Given the description of an element on the screen output the (x, y) to click on. 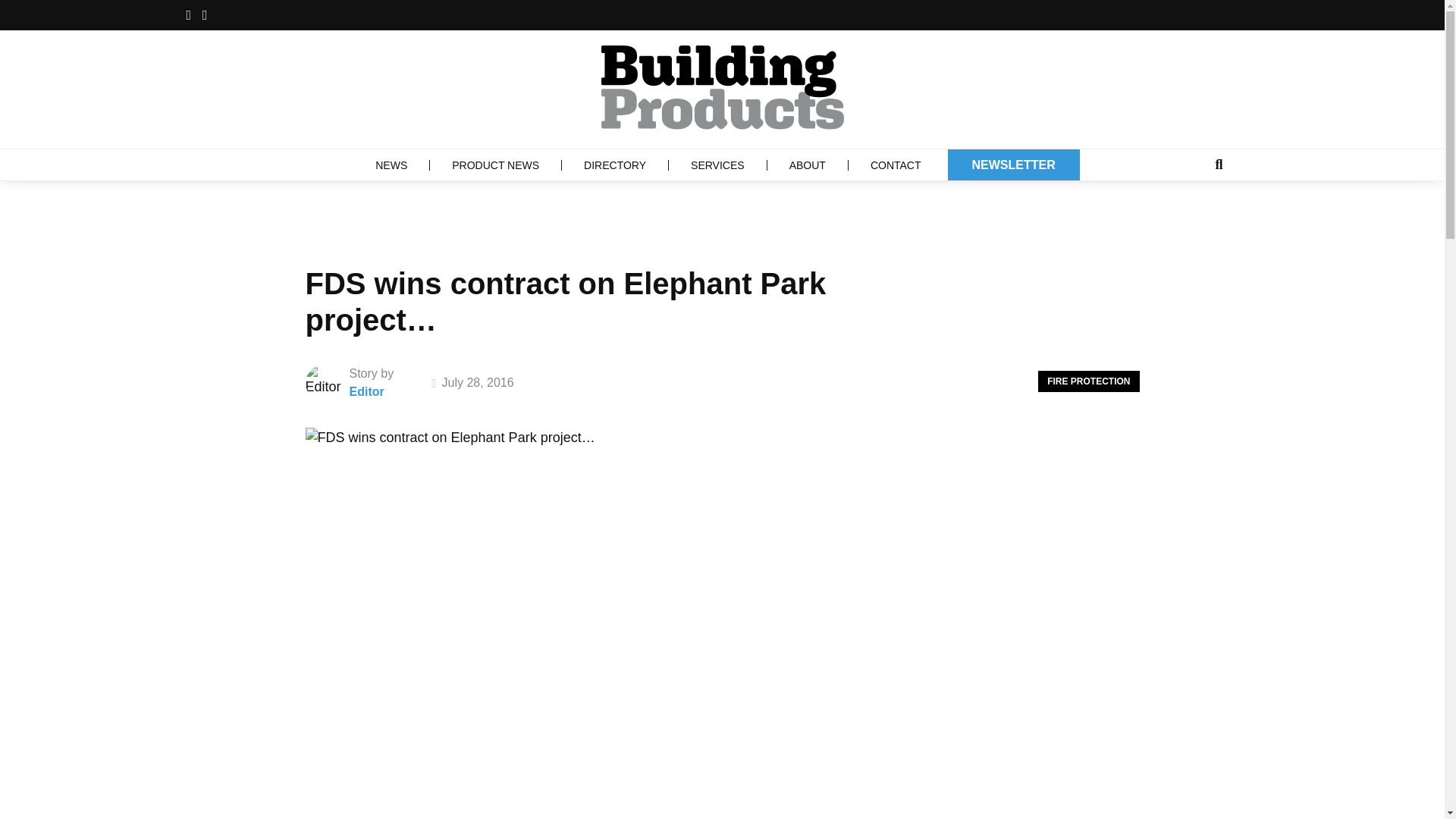
NEWS (390, 164)
PRODUCT NEWS (495, 164)
Return to the homepage (721, 87)
